Given the description of an element on the screen output the (x, y) to click on. 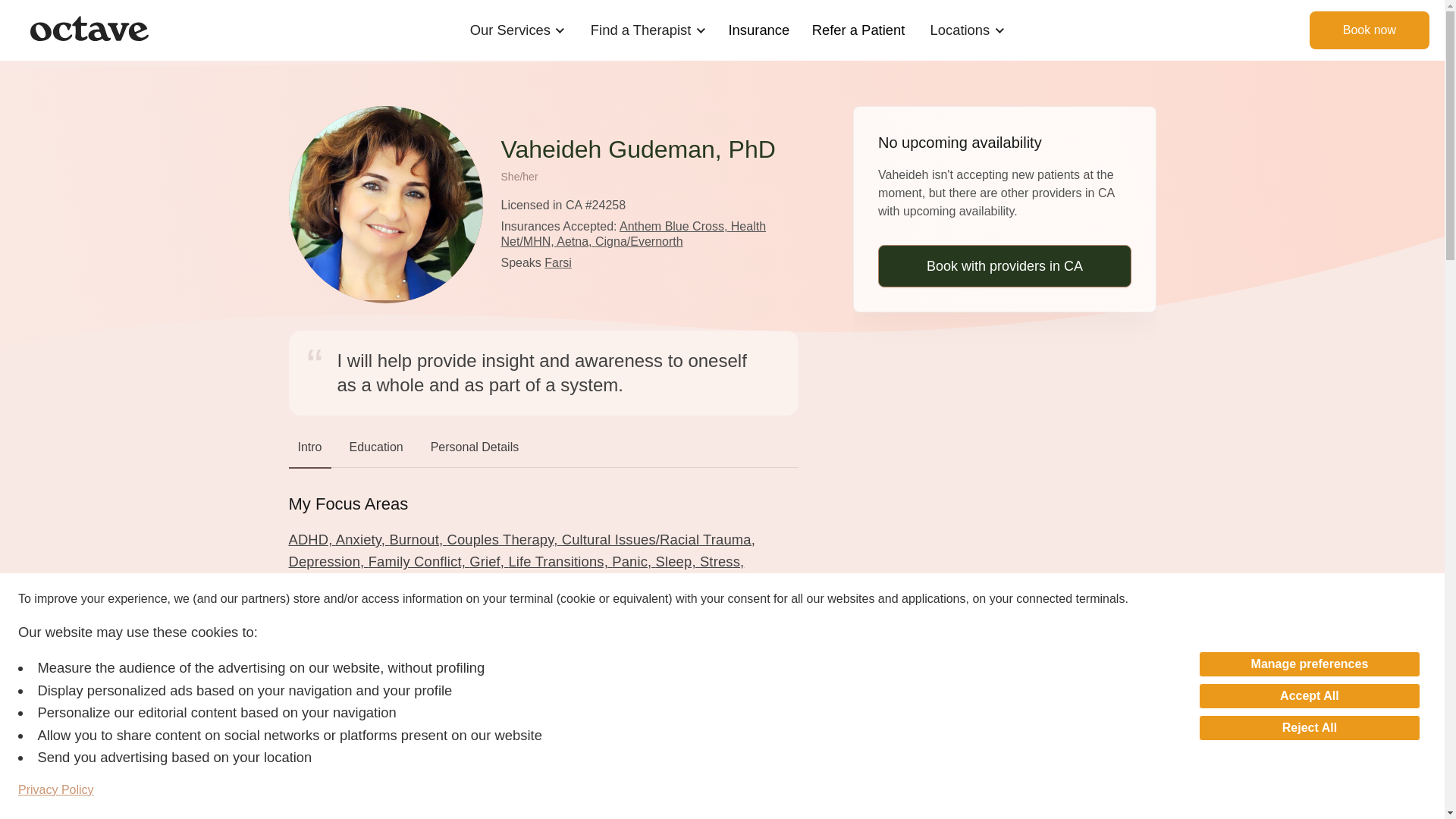
Panic, (633, 561)
Locations (959, 29)
Stress, (722, 561)
Personal Details (475, 450)
Education (376, 450)
Burnout, (417, 539)
Reject All (1309, 727)
Manage preferences (1309, 664)
Grief, (488, 561)
Couples Therapy, (503, 539)
Insurance (758, 29)
Anthem Blue Cross, (675, 226)
Aetna, (575, 241)
Intro (309, 451)
Book now (1368, 30)
